Given the description of an element on the screen output the (x, y) to click on. 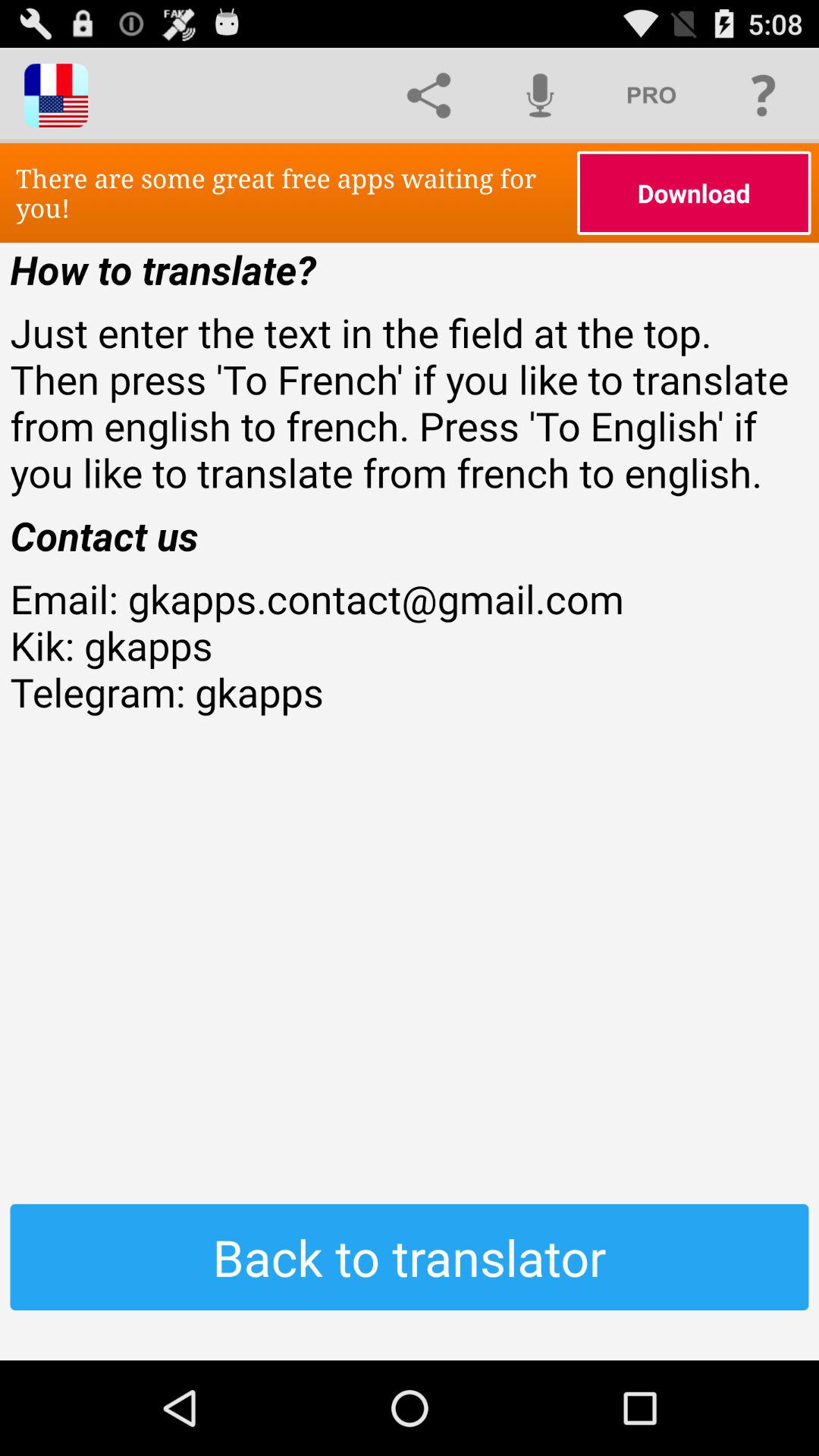
jump until the email gkapps contact icon (409, 691)
